Given the description of an element on the screen output the (x, y) to click on. 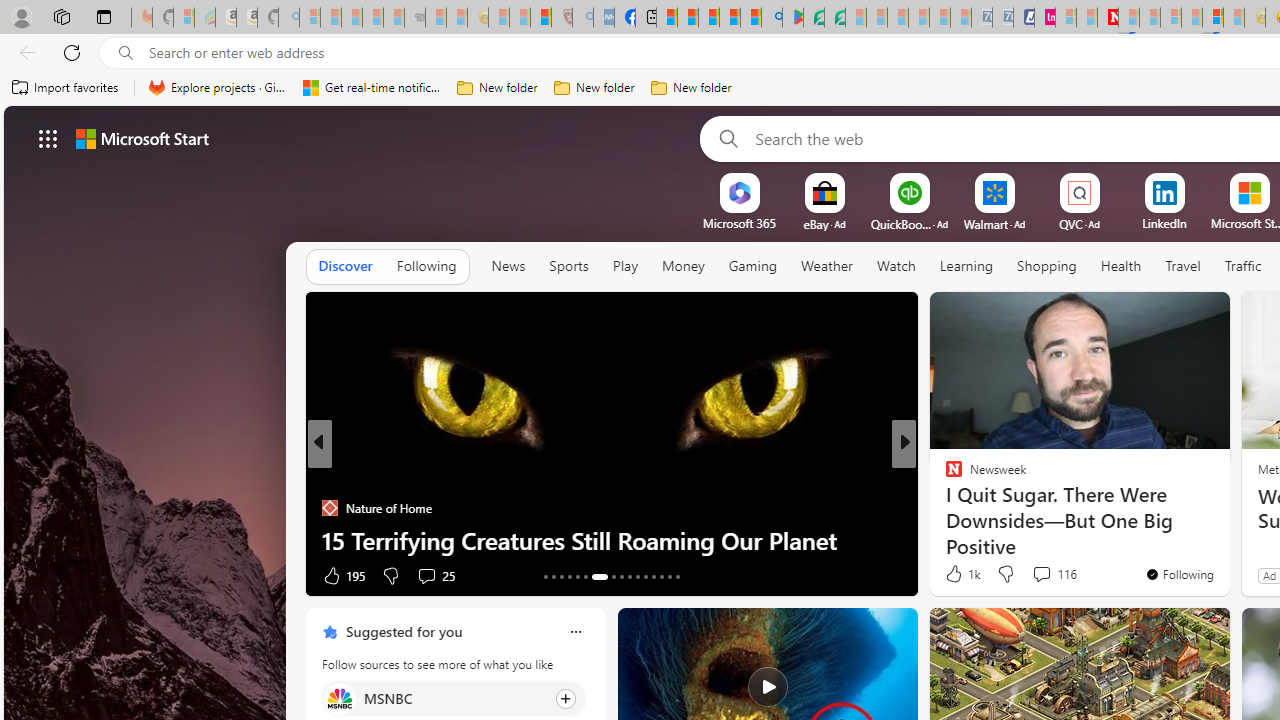
Sports (569, 267)
The Weather Channel - MSN - Sleeping (351, 17)
New folder (691, 88)
Microsoft start (142, 138)
331 Like (959, 574)
411 Like (959, 574)
Learning (965, 265)
AutomationID: tab-40 (660, 576)
Watch (895, 265)
Travel (1183, 267)
Start the conversation (1035, 574)
Traffic (1242, 267)
